Given the description of an element on the screen output the (x, y) to click on. 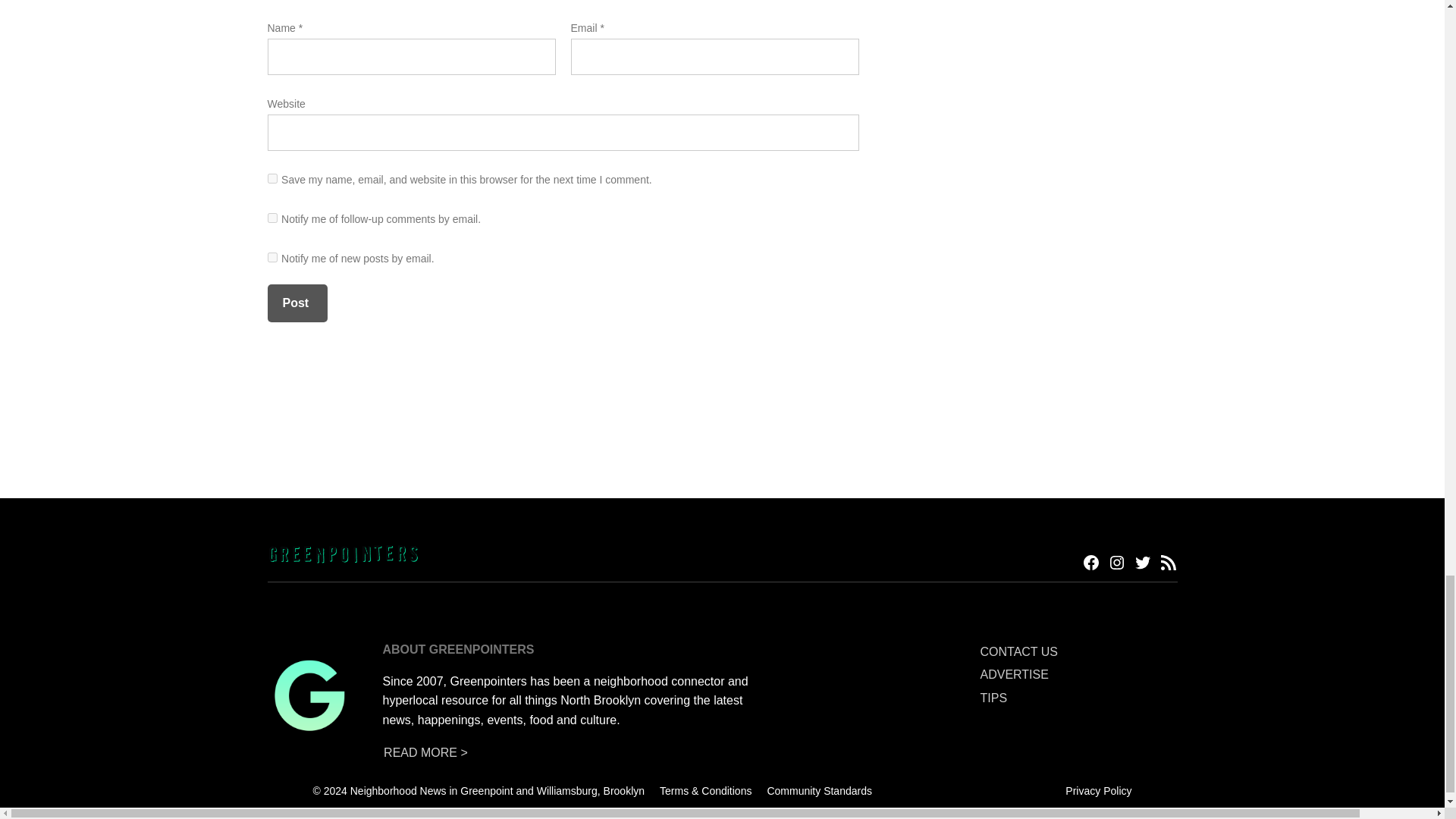
3rd party ad content (721, 417)
subscribe (271, 257)
Post  (296, 303)
yes (271, 178)
subscribe (271, 217)
